Given the description of an element on the screen output the (x, y) to click on. 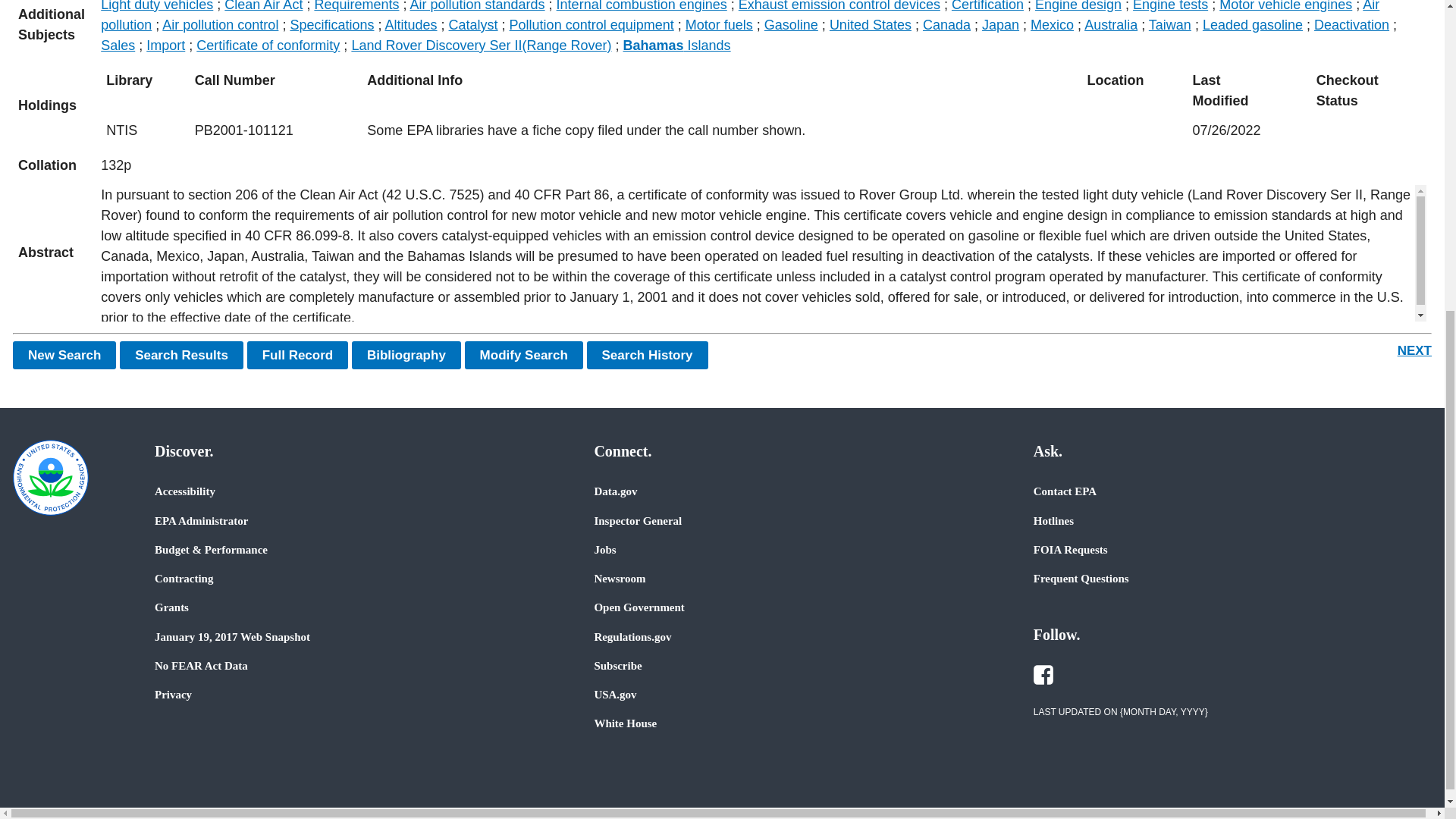
Search Results (181, 355)
Pollution control equipment (591, 24)
Search History (646, 355)
Import (165, 45)
Show results in standard format (181, 355)
Leaded gasoline (1252, 24)
Specifications (331, 24)
Gasoline (791, 24)
Modify Search (523, 355)
Mexico (1052, 24)
Certification (987, 6)
Clean Air Act (263, 6)
Australia (1110, 24)
Motor fuels (718, 24)
